Given the description of an element on the screen output the (x, y) to click on. 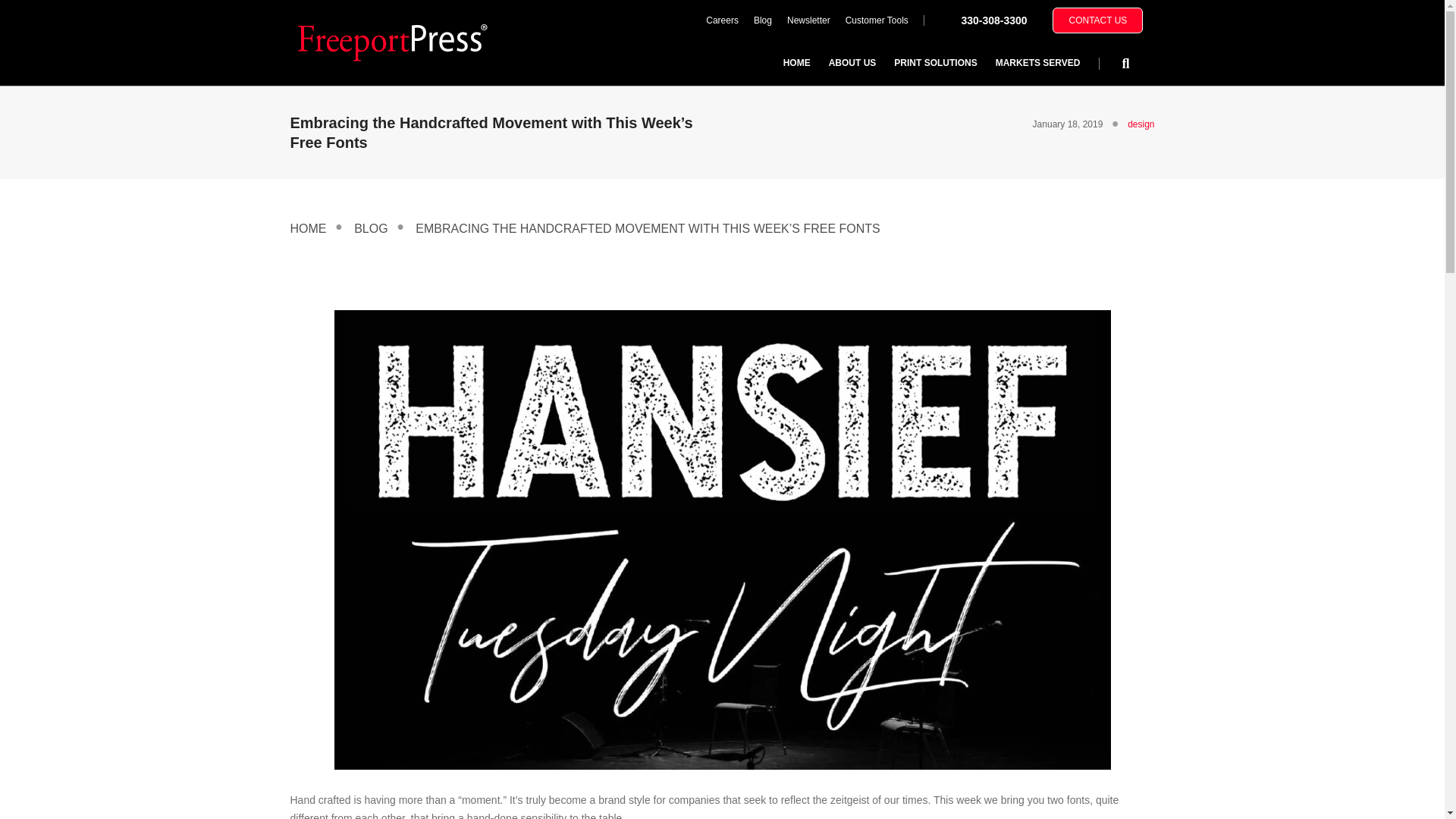
HOME (796, 62)
330-308-3300 (993, 20)
CONTACT US (1097, 20)
Careers (721, 20)
MARKETS SERVED (1038, 62)
ABOUT US (852, 62)
Customer Tools (876, 20)
Newsletter (808, 20)
Blog (761, 20)
PRINT SOLUTIONS (935, 62)
